Given the description of an element on the screen output the (x, y) to click on. 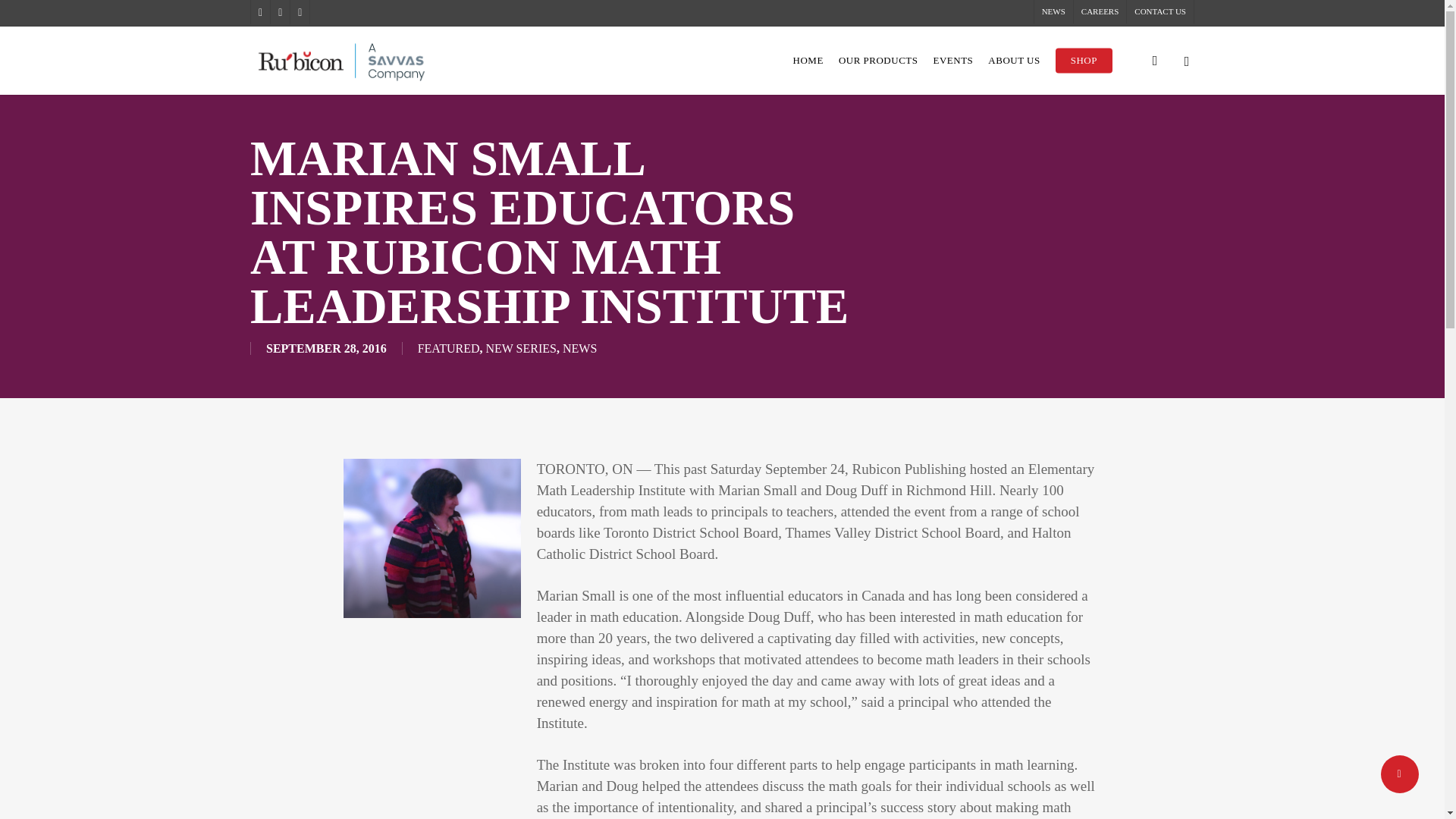
FEATURED (448, 348)
CONTACT US (1159, 11)
EVENTS (951, 60)
ABOUT US (1012, 60)
SHOP (1083, 60)
NEWS (579, 348)
CAREERS (1099, 11)
OUR PRODUCTS (878, 60)
NEW SERIES (520, 348)
HOME (808, 60)
search (1154, 60)
NEWS (1053, 11)
FACEBOOK (279, 12)
INSTAGRAM (298, 12)
TWITTER (259, 12)
